Given the description of an element on the screen output the (x, y) to click on. 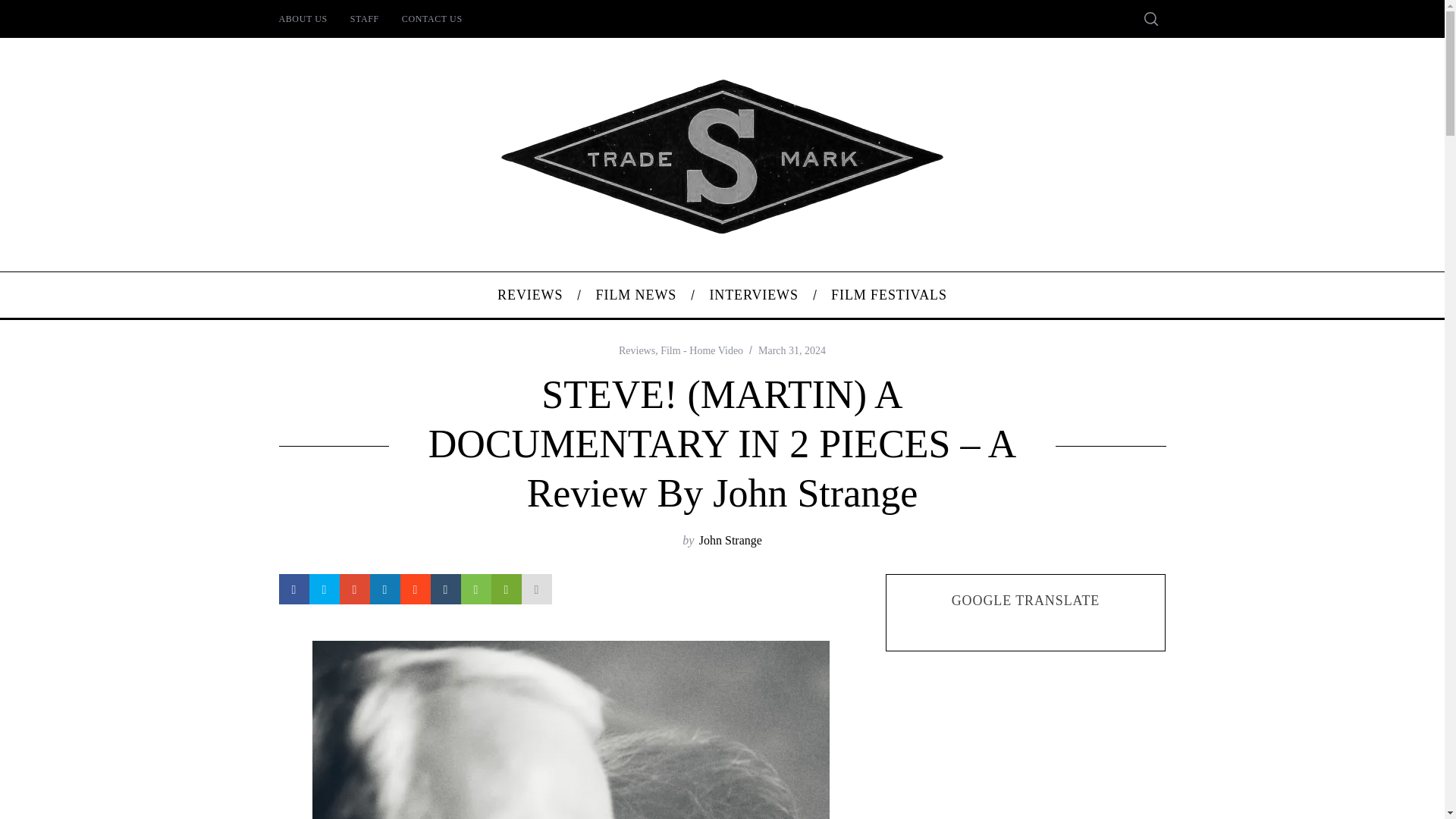
REVIEWS (529, 294)
FILM FESTIVALS (889, 294)
FILM NEWS (636, 294)
INTERVIEWS (754, 294)
CONTACT US (432, 18)
John Strange (729, 540)
Film - Home Video (701, 350)
Reviews (636, 350)
STAFF (364, 18)
ABOUT US (301, 18)
